Given the description of an element on the screen output the (x, y) to click on. 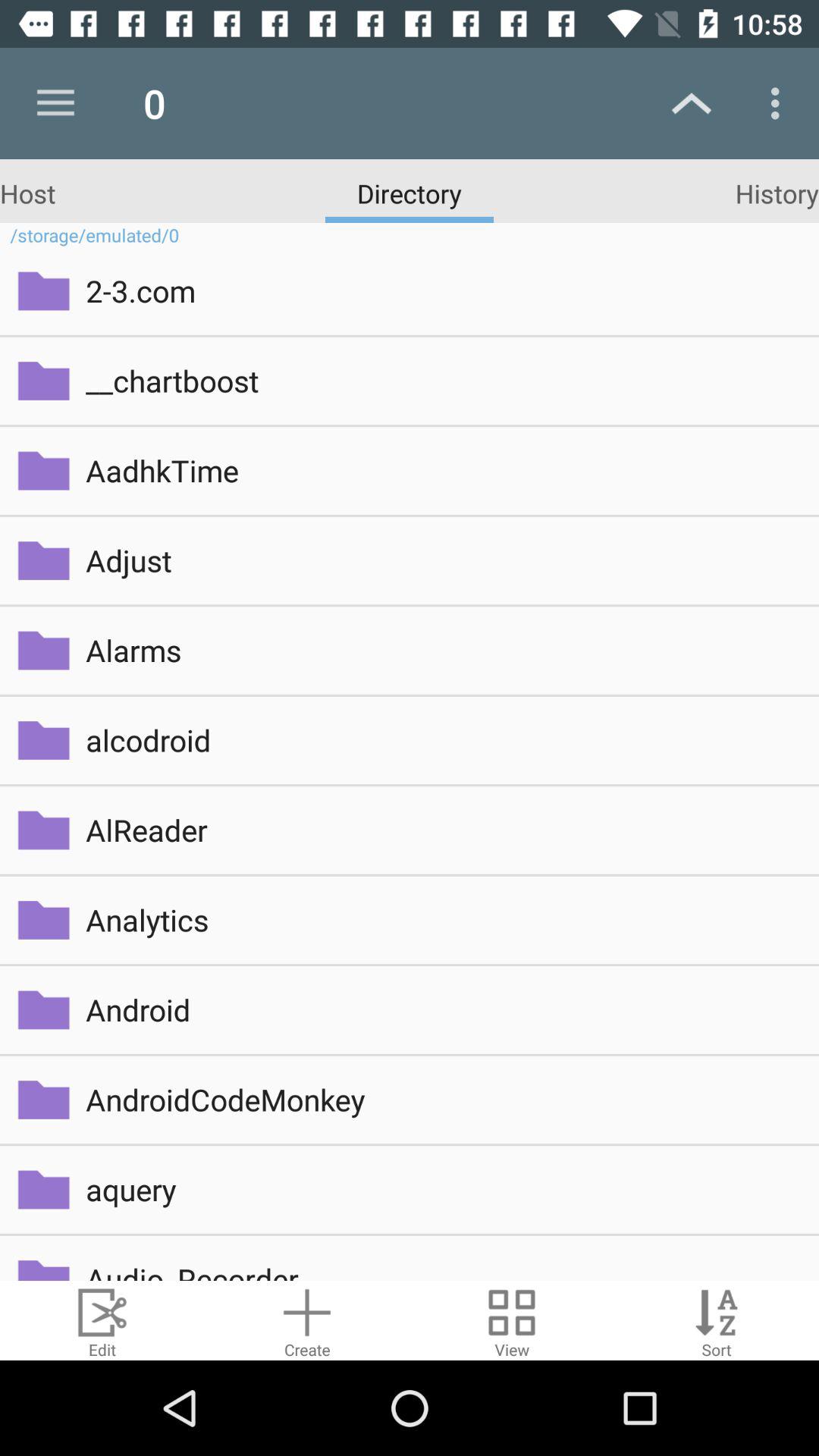
open sorting options (716, 1320)
